Given the description of an element on the screen output the (x, y) to click on. 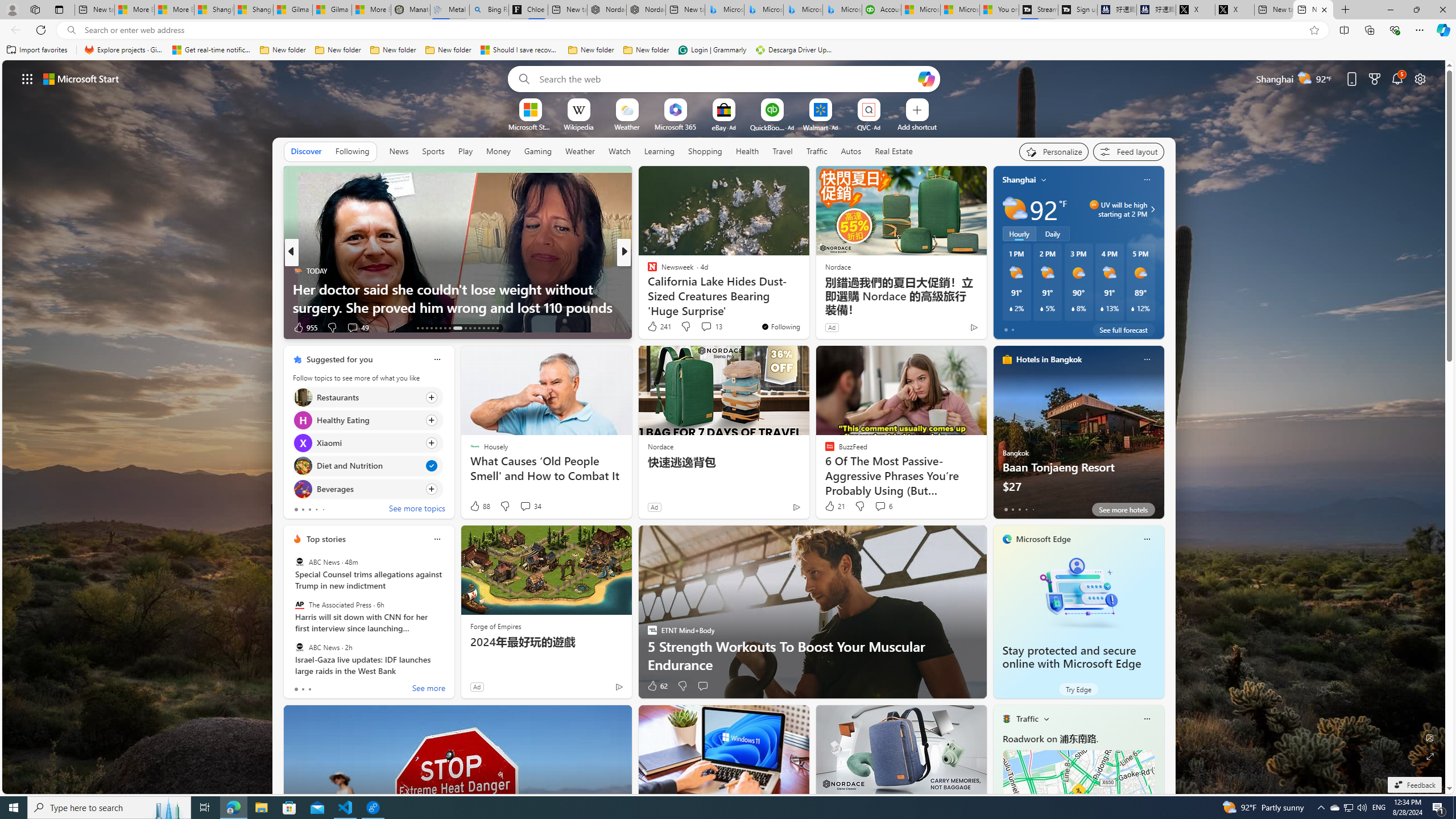
next (448, 432)
AutomationID: tab-24 (474, 328)
previous (288, 432)
Learning (659, 151)
View comments 18 Comment (707, 327)
Accounting Software for Accountants, CPAs and Bookkeepers (881, 9)
Weather (580, 151)
Microsoft rewards (1374, 78)
USA TODAY College Sports Wire (647, 270)
Shopping (705, 151)
Watch (619, 151)
tab-1 (302, 689)
